Given the description of an element on the screen output the (x, y) to click on. 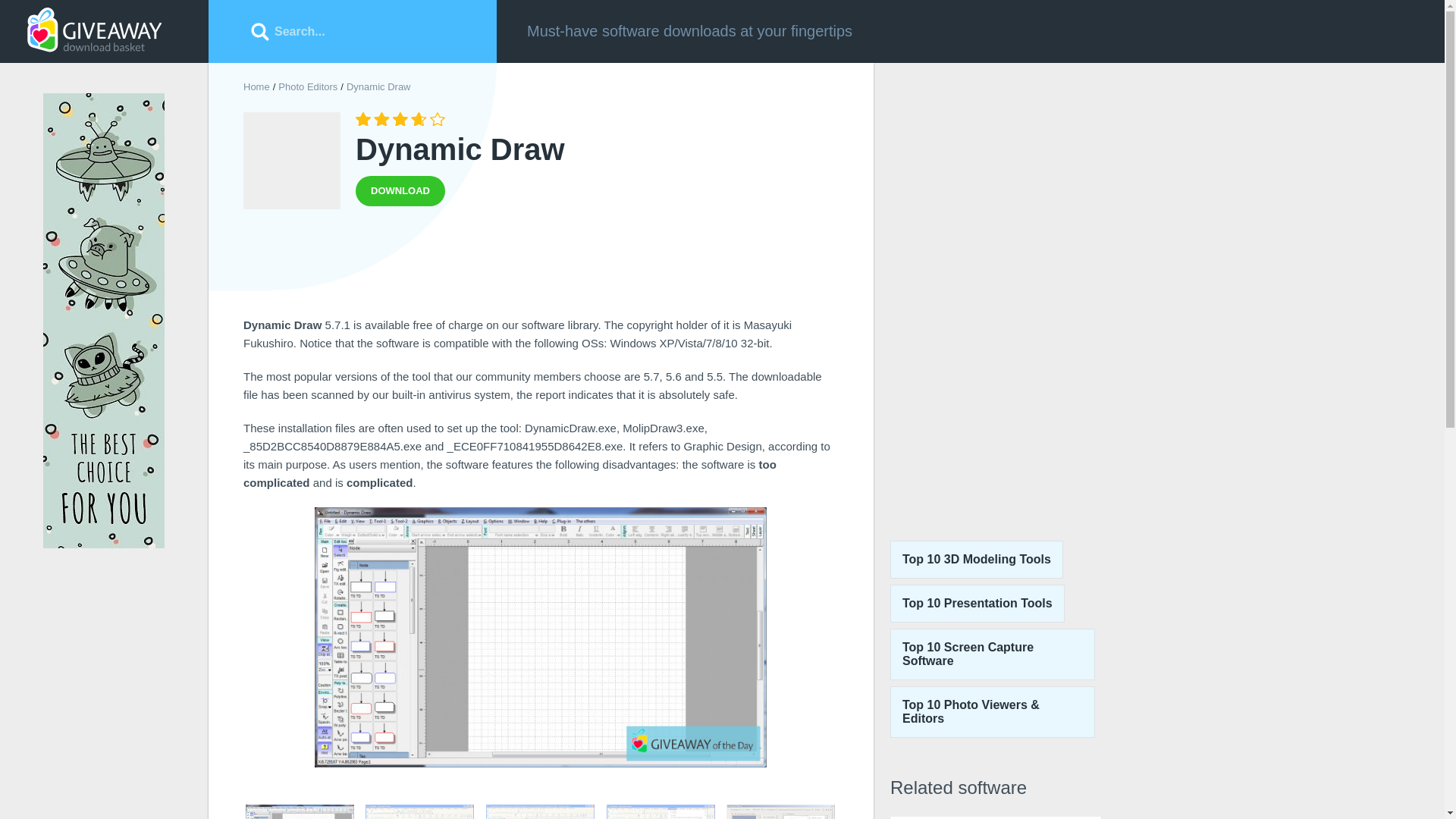
Photo Editors Software for Windows (307, 86)
DOWNLOAD (400, 191)
Software and Games for Windows (256, 86)
Software and Games for Windows (94, 30)
Top 10 3D Modeling Tools for Windows (975, 559)
Download Dynamic Draw 5.7.1 for free (400, 191)
Photo Editors (307, 86)
Top 10 Presentation Tools (976, 603)
Top 10 Presentation Tools for Windows (994, 817)
